Given the description of an element on the screen output the (x, y) to click on. 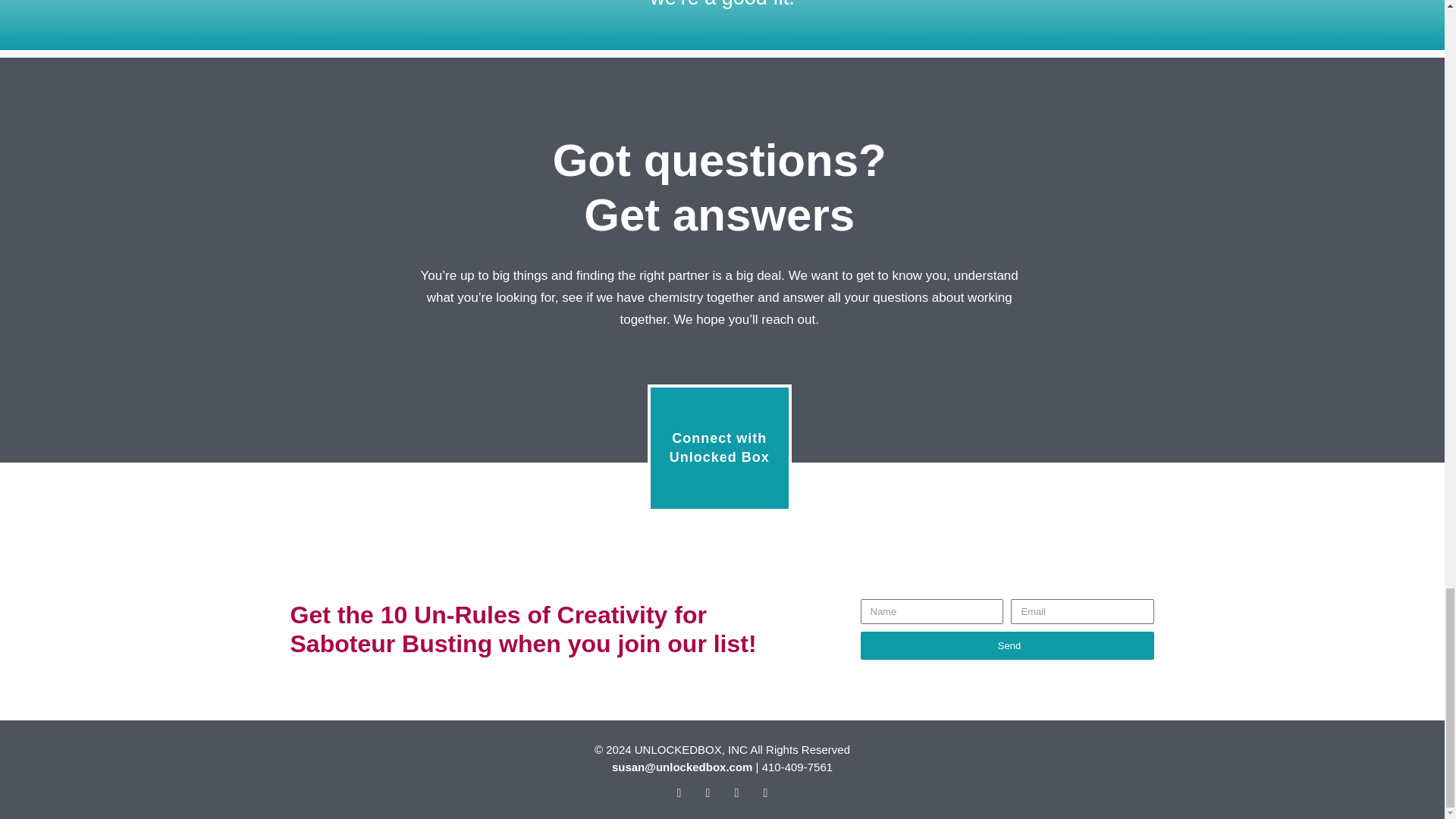
Send (719, 447)
